Given the description of an element on the screen output the (x, y) to click on. 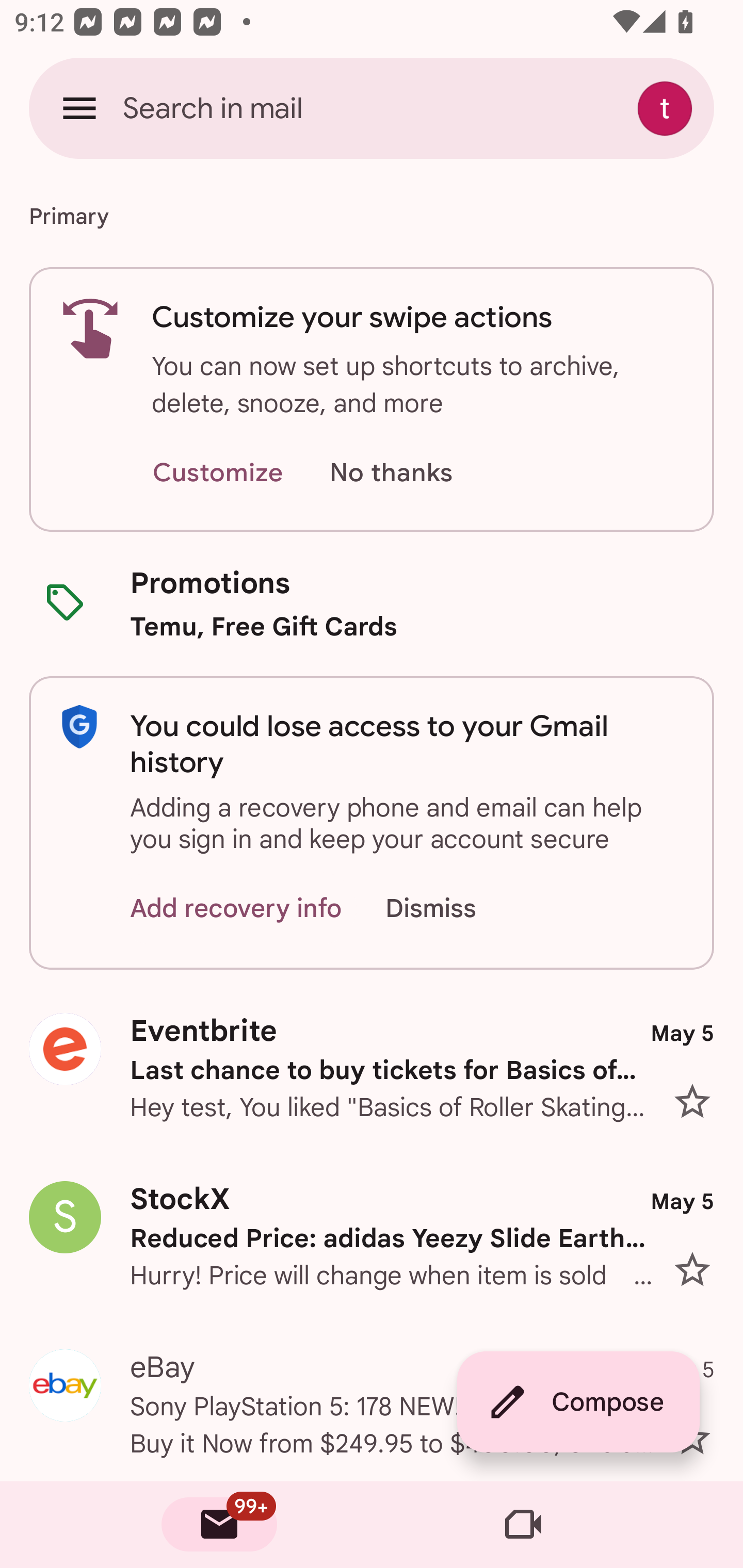
Open navigation drawer (79, 108)
Customize (217, 473)
No thanks (390, 473)
Promotions Temu, Free Gift Cards (371, 603)
Add recovery info (235, 908)
Dismiss (449, 908)
Compose (577, 1401)
Meet (523, 1524)
